Given the description of an element on the screen output the (x, y) to click on. 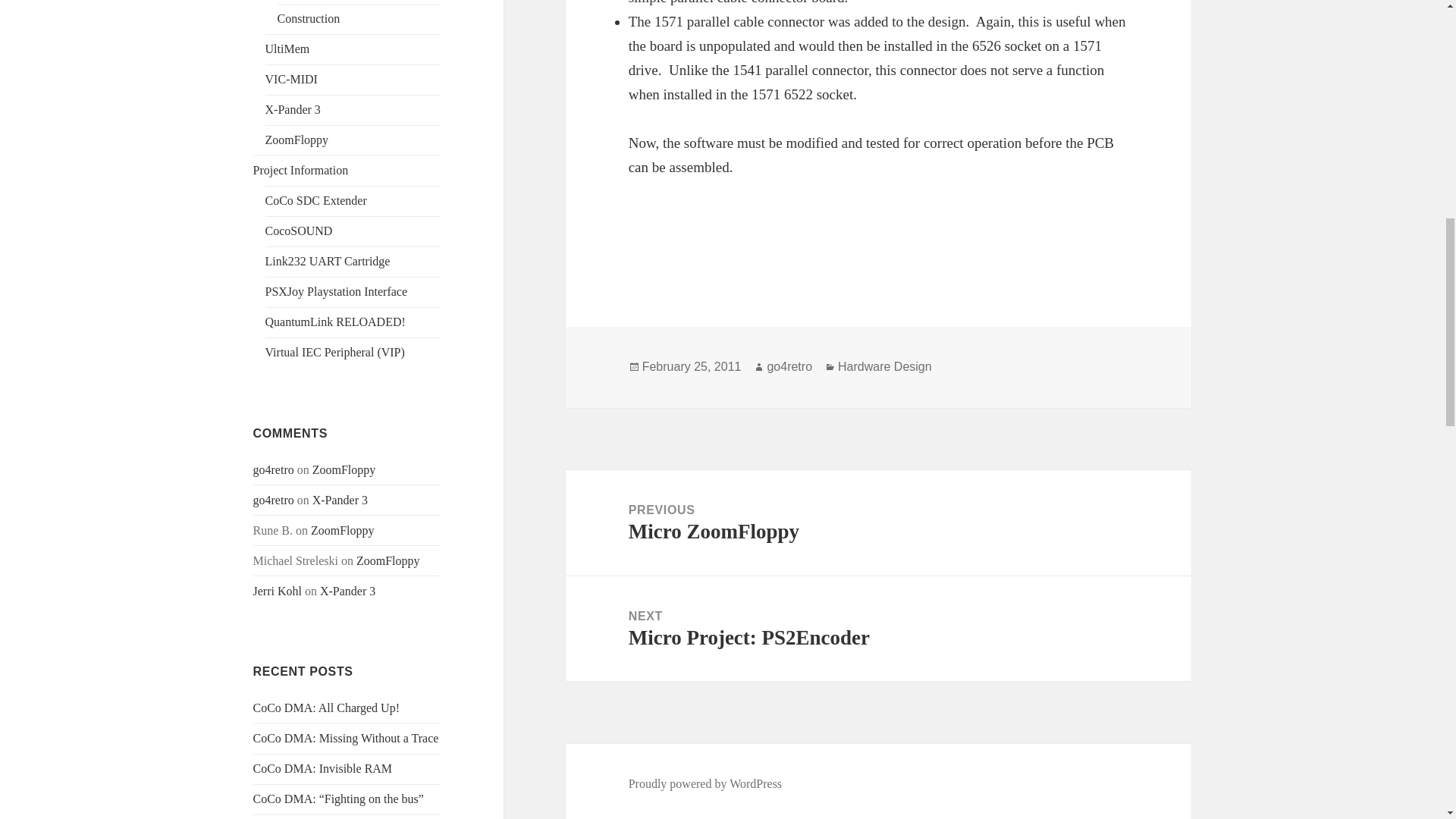
ZoomFloppy (388, 560)
VIC-MIDI (290, 78)
go4retro (273, 499)
Construction (309, 18)
CoCo SDC Extender (315, 200)
ZoomFloppy (296, 139)
X-Pander 3 (292, 109)
PSXJoy Playstation Interface (335, 291)
ZoomFloppy (342, 530)
QuantumLink RELOADED! (335, 321)
